Given the description of an element on the screen output the (x, y) to click on. 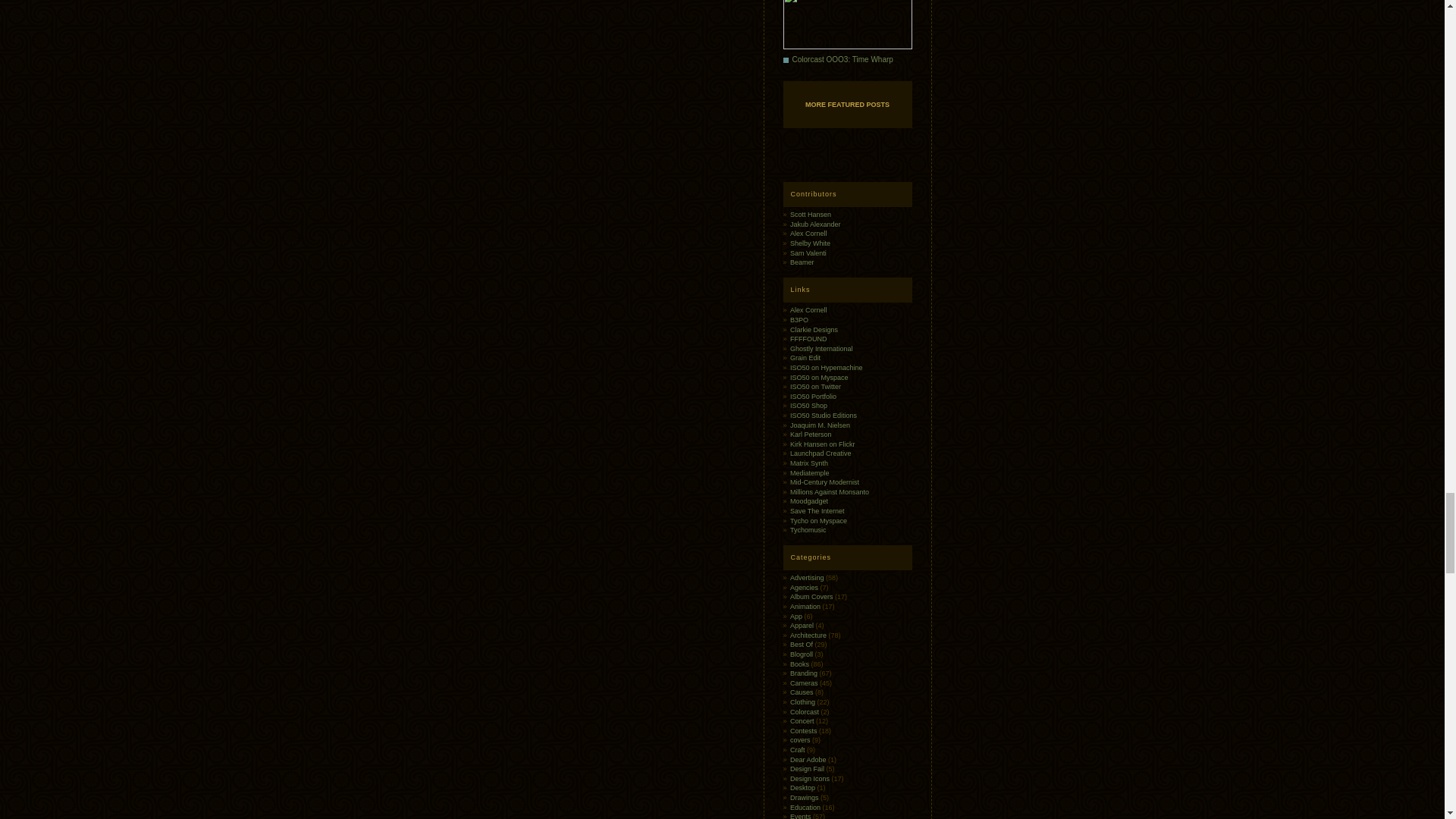
ISO50 Portfolio (812, 396)
ISO50 on Twitter (815, 386)
Music from ISO50 on Hypemachine (826, 367)
